Given the description of an element on the screen output the (x, y) to click on. 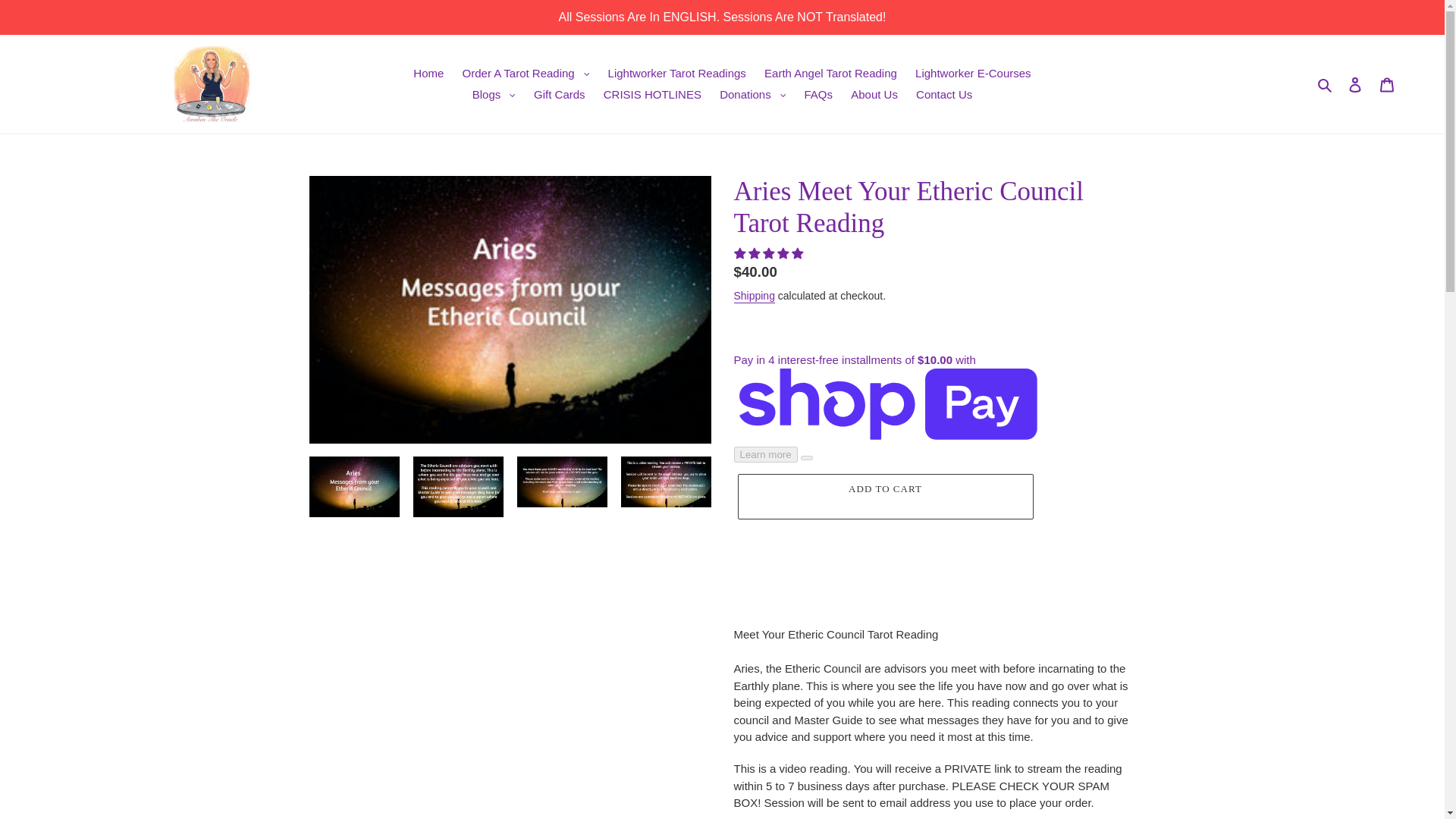
Earth Angel Tarot Reading (830, 73)
Blogs (493, 95)
Lightworker E-Courses (973, 73)
Lightworker Tarot Readings (676, 73)
Home (428, 73)
Order A Tarot Reading (525, 73)
